Given the description of an element on the screen output the (x, y) to click on. 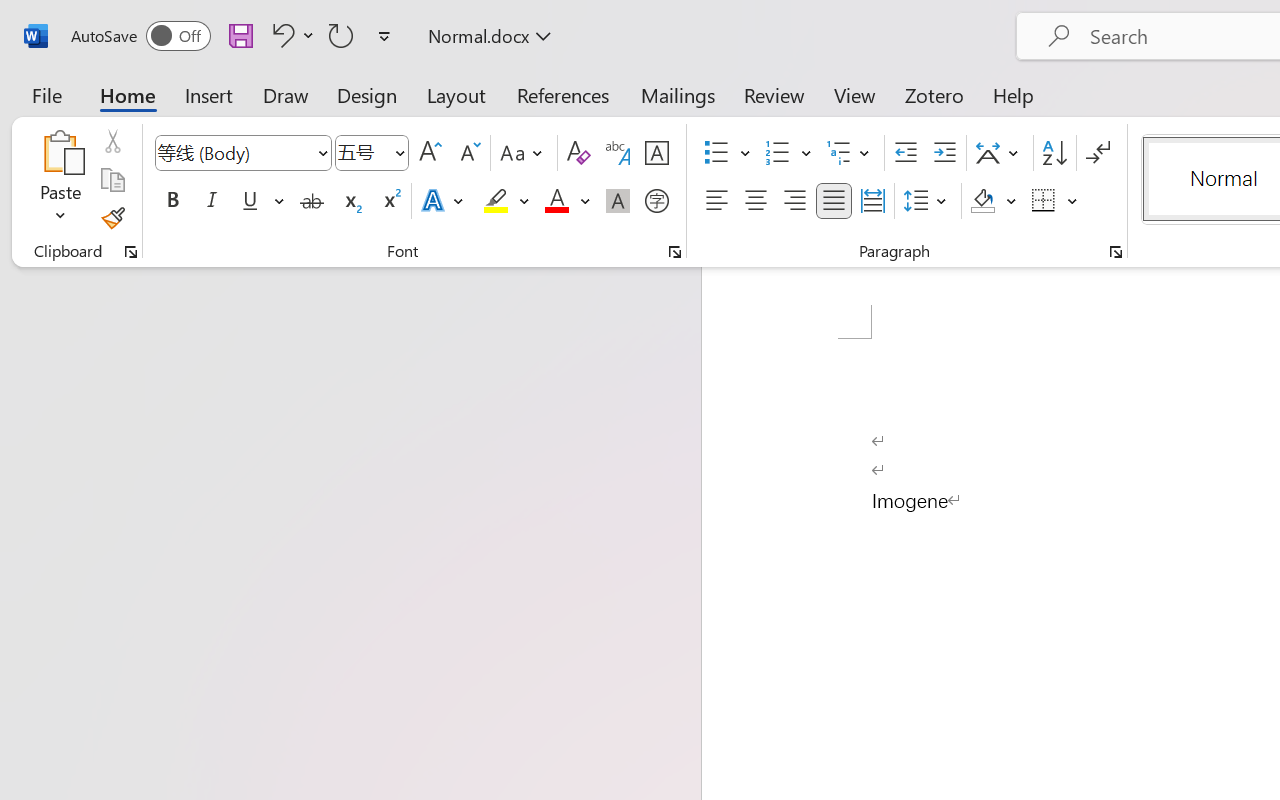
Help (1013, 94)
Character Shading (618, 201)
Undo Style (290, 35)
Copy (112, 179)
Center (756, 201)
Office Clipboard... (131, 252)
Distributed (872, 201)
Repeat Style (341, 35)
